Given the description of an element on the screen output the (x, y) to click on. 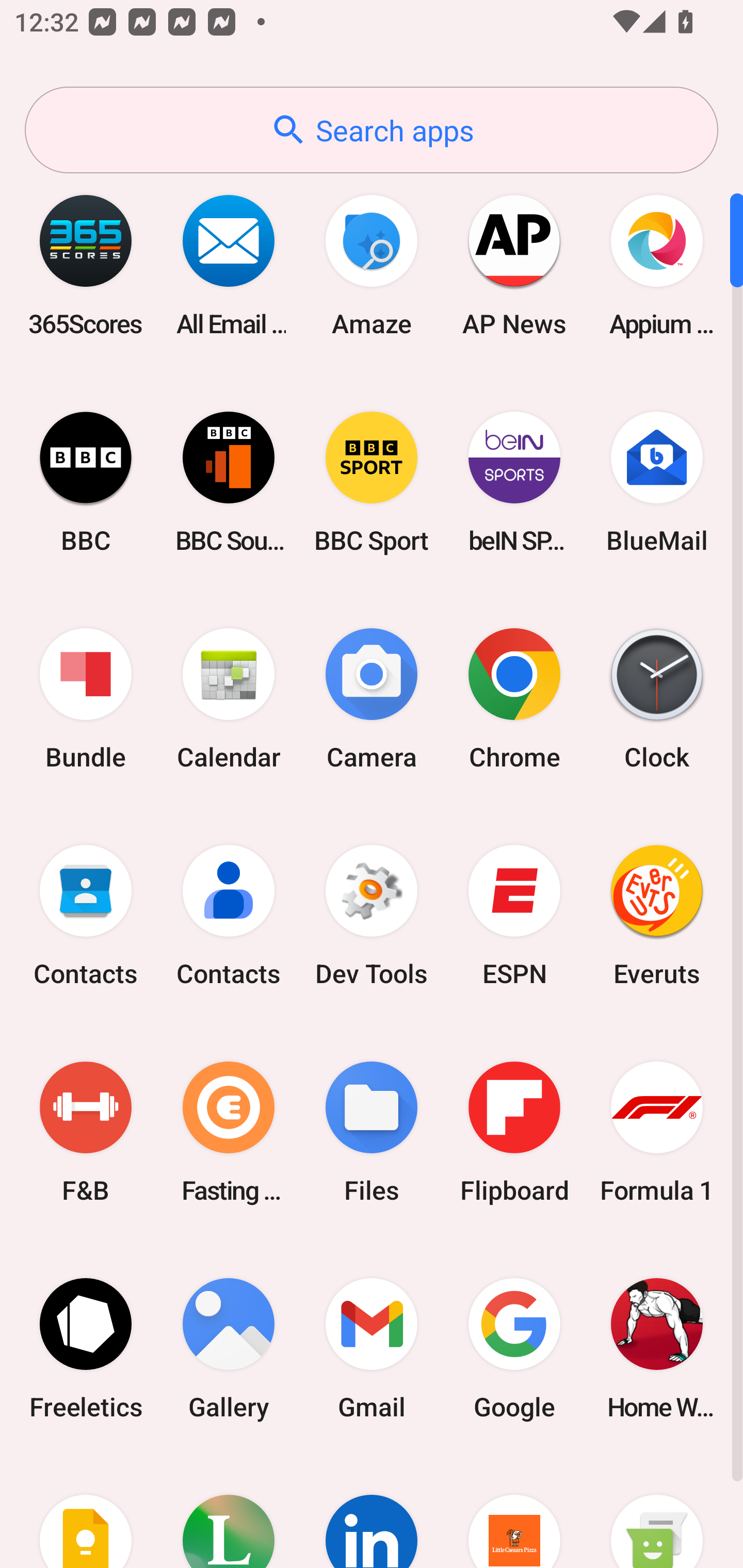
  Search apps (371, 130)
365Scores (85, 264)
All Email Connect (228, 264)
Amaze (371, 264)
AP News (514, 264)
Appium Settings (656, 264)
BBC (85, 482)
BBC Sounds (228, 482)
BBC Sport (371, 482)
beIN SPORTS (514, 482)
BlueMail (656, 482)
Bundle (85, 699)
Calendar (228, 699)
Camera (371, 699)
Chrome (514, 699)
Clock (656, 699)
Contacts (85, 915)
Contacts (228, 915)
Dev Tools (371, 915)
ESPN (514, 915)
Everuts (656, 915)
F&B (85, 1131)
Fasting Coach (228, 1131)
Files (371, 1131)
Flipboard (514, 1131)
Formula 1 (656, 1131)
Freeletics (85, 1348)
Gallery (228, 1348)
Gmail (371, 1348)
Google (514, 1348)
Home Workout (656, 1348)
Keep Notes (85, 1512)
Lifesum (228, 1512)
LinkedIn (371, 1512)
Little Caesars Pizza (514, 1512)
Messaging (656, 1512)
